Given the description of an element on the screen output the (x, y) to click on. 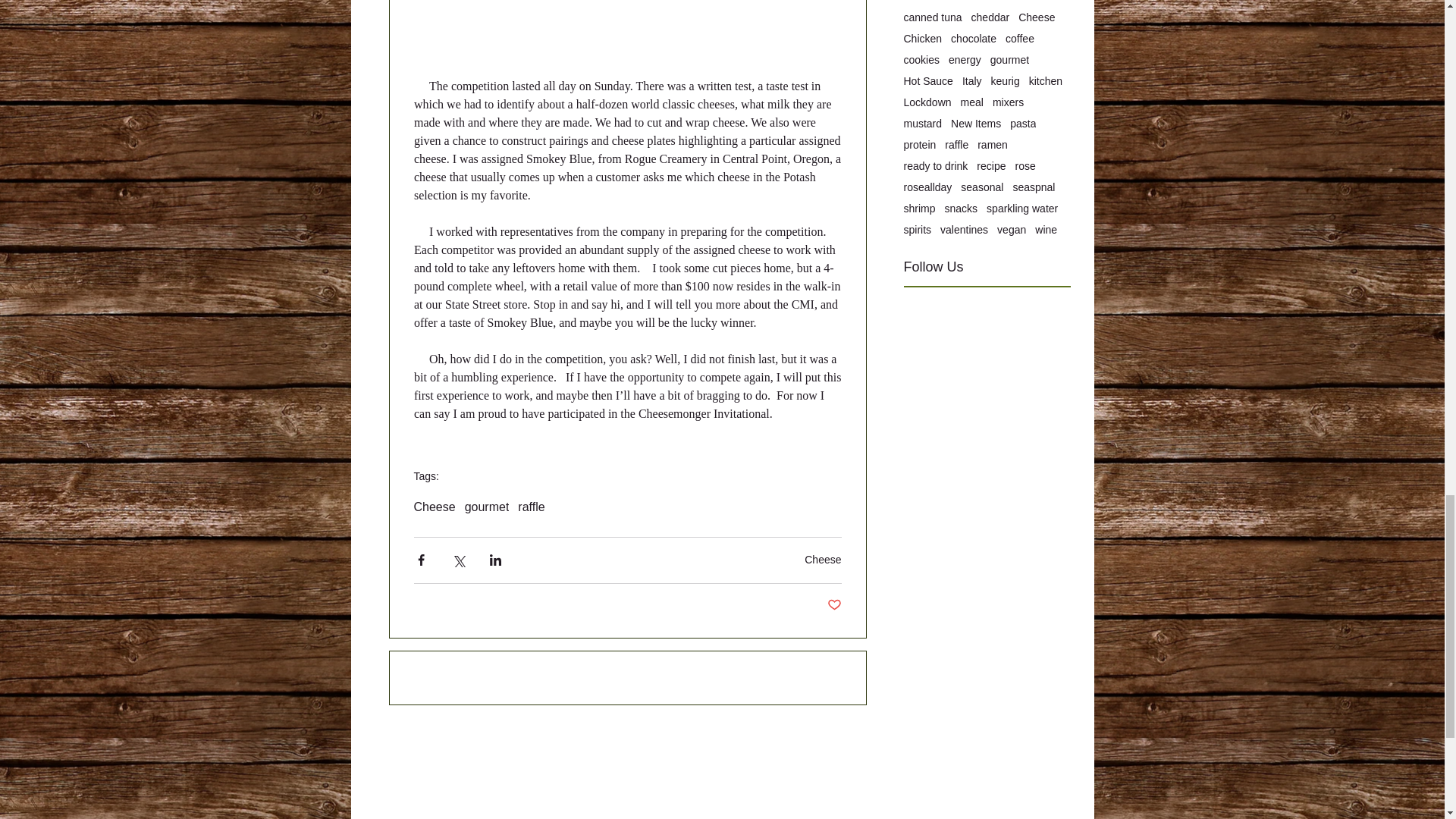
Post not marked as liked (834, 605)
gourmet (486, 507)
Cheese (823, 559)
Cheese (434, 507)
raffle (531, 507)
